Given the description of an element on the screen output the (x, y) to click on. 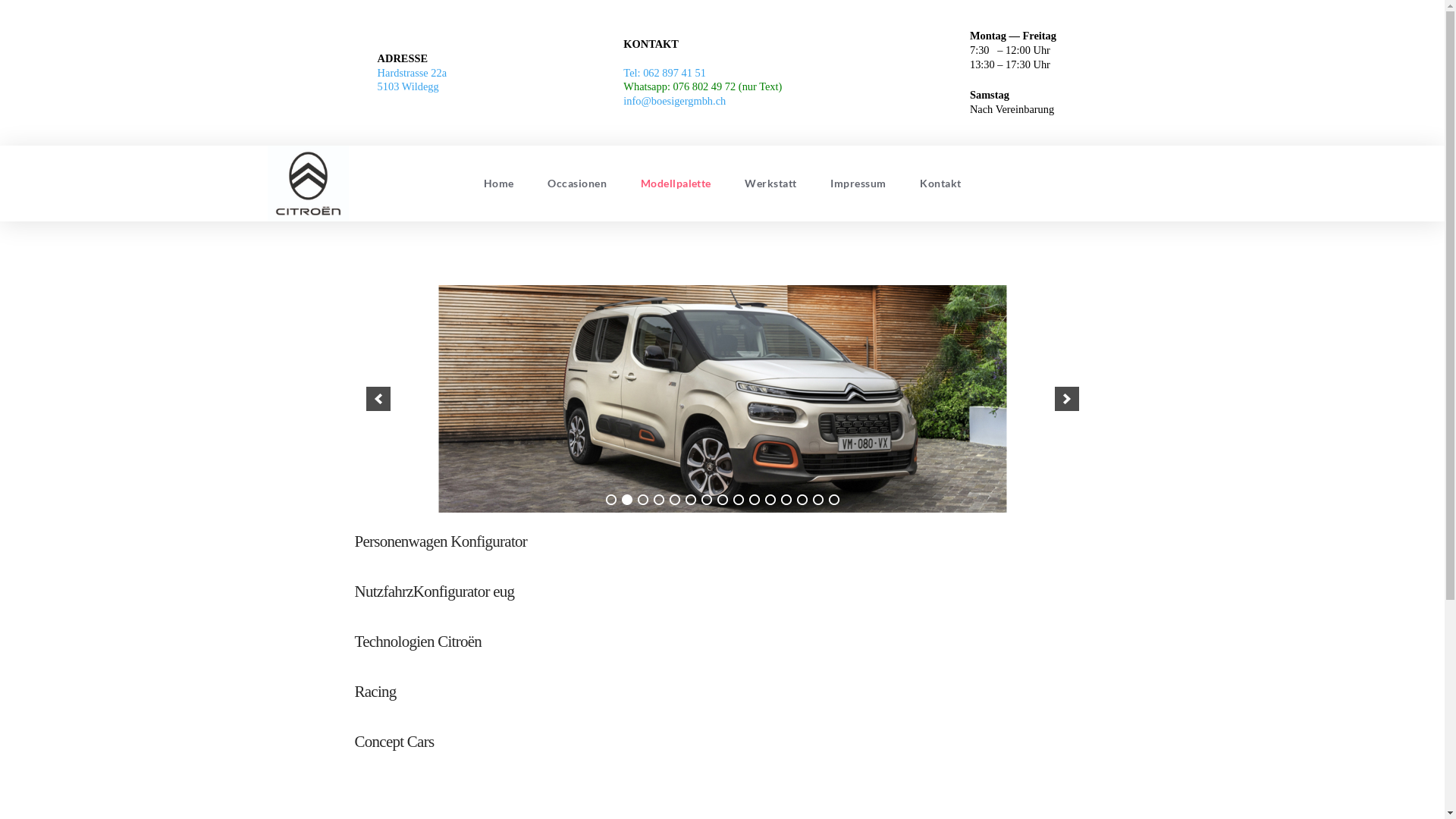
8 Element type: text (722, 499)
9 Element type: text (737, 499)
10 Element type: text (754, 499)
Home Element type: text (498, 183)
4 Element type: text (658, 499)
2 Element type: text (626, 499)
6 Element type: text (690, 499)
11 Element type: text (769, 499)
Modellpalette Element type: text (675, 183)
Personenwagen Konfigurator Element type: text (440, 541)
Impressum Element type: text (858, 183)
Whatsapp: 076 802 49 72 (nur Text) Element type: text (702, 86)
3 Element type: text (642, 499)
Werkstatt Element type: text (770, 183)
15 Element type: text (833, 499)
Kontakt Element type: text (940, 183)
Hardstrasse 22a
5103 Wildegg Element type: text (412, 79)
info@boesigergmbh.ch Element type: text (674, 100)
14 Element type: text (817, 499)
12 Element type: text (786, 499)
13 Element type: text (801, 499)
1 Element type: text (610, 499)
7 Element type: text (705, 499)
Concept Cars Element type: text (394, 741)
Tel: 062 897 41 51 Element type: text (664, 72)
Racing Element type: text (375, 691)
NutzfahrzKonfigurator eug Element type: text (434, 591)
5 Element type: text (673, 499)
Occasionen Element type: text (576, 183)
